Given the description of an element on the screen output the (x, y) to click on. 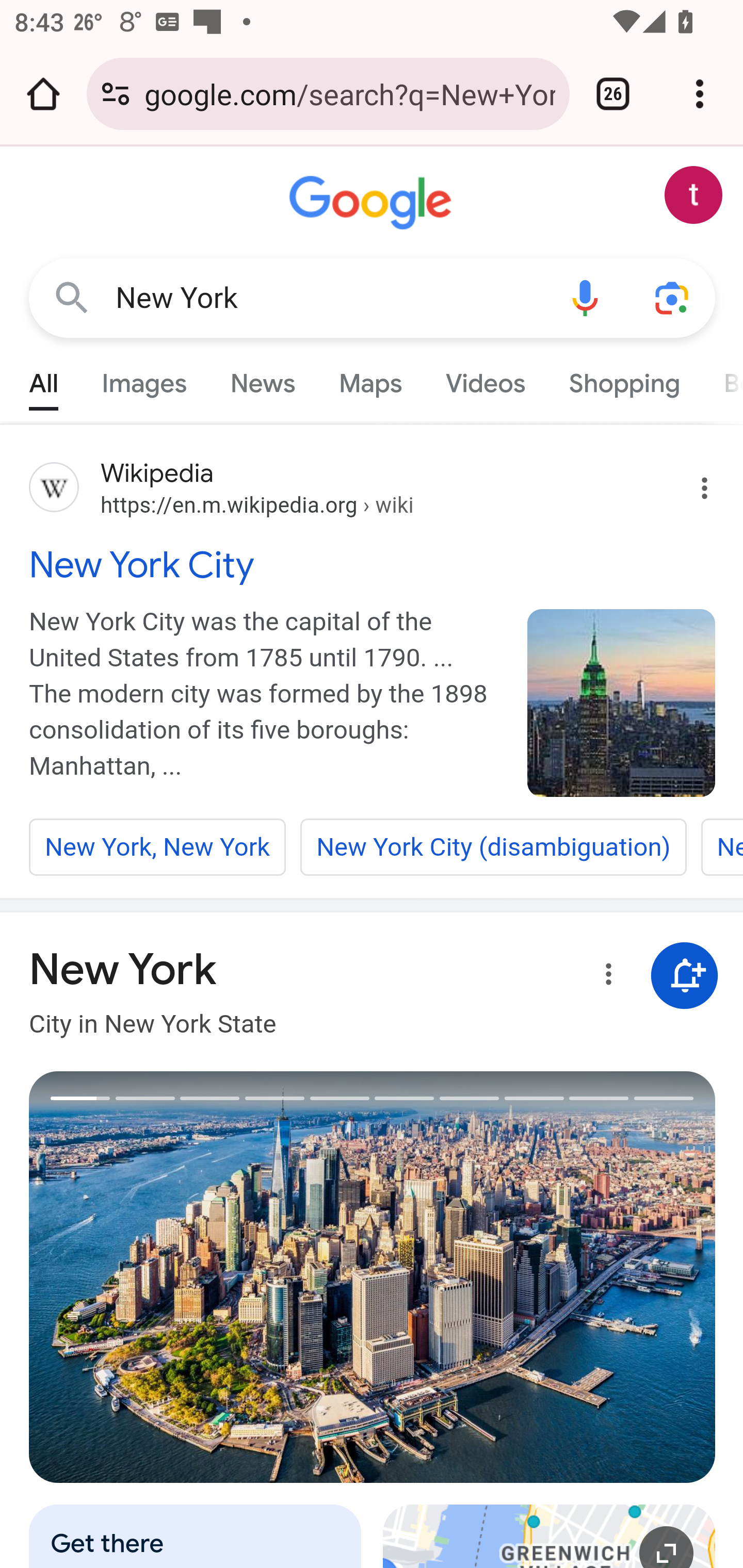
Open the home page (43, 93)
Connection is secure (115, 93)
Switch or close tabs (612, 93)
Customize and control Google Chrome (699, 93)
Google (372, 203)
Google Search (71, 296)
Search using your camera or photos (672, 296)
New York (328, 297)
Images (144, 378)
News (262, 378)
Maps (369, 378)
Videos (485, 378)
Shopping (623, 378)
New York City (372, 564)
New_York_City (621, 703)
New York, New York (157, 847)
New York City (disambiguation) (493, 847)
Get notifications about New York (684, 976)
More options (605, 976)
Previous image (200, 1276)
Next image (544, 1276)
Expand map (549, 1535)
